Given the description of an element on the screen output the (x, y) to click on. 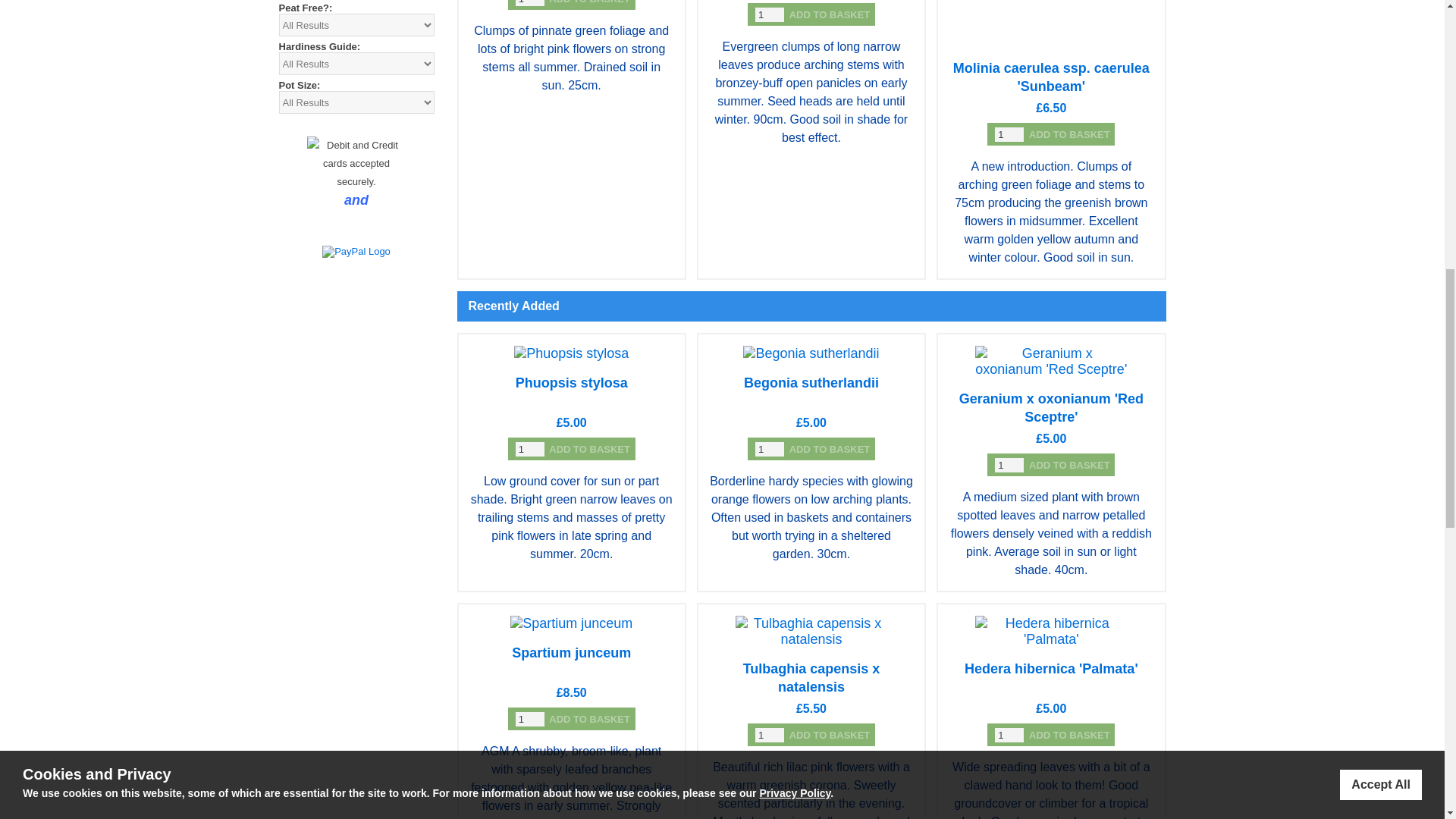
1 (769, 14)
1 (1008, 134)
1 (529, 718)
1 (1008, 735)
Molinia caerulea ssp. caerulea 'Sunbeam' (1051, 77)
1 (529, 2)
1 (529, 448)
1 (769, 735)
ADD TO BASKET (829, 14)
1 (1008, 464)
